Given the description of an element on the screen output the (x, y) to click on. 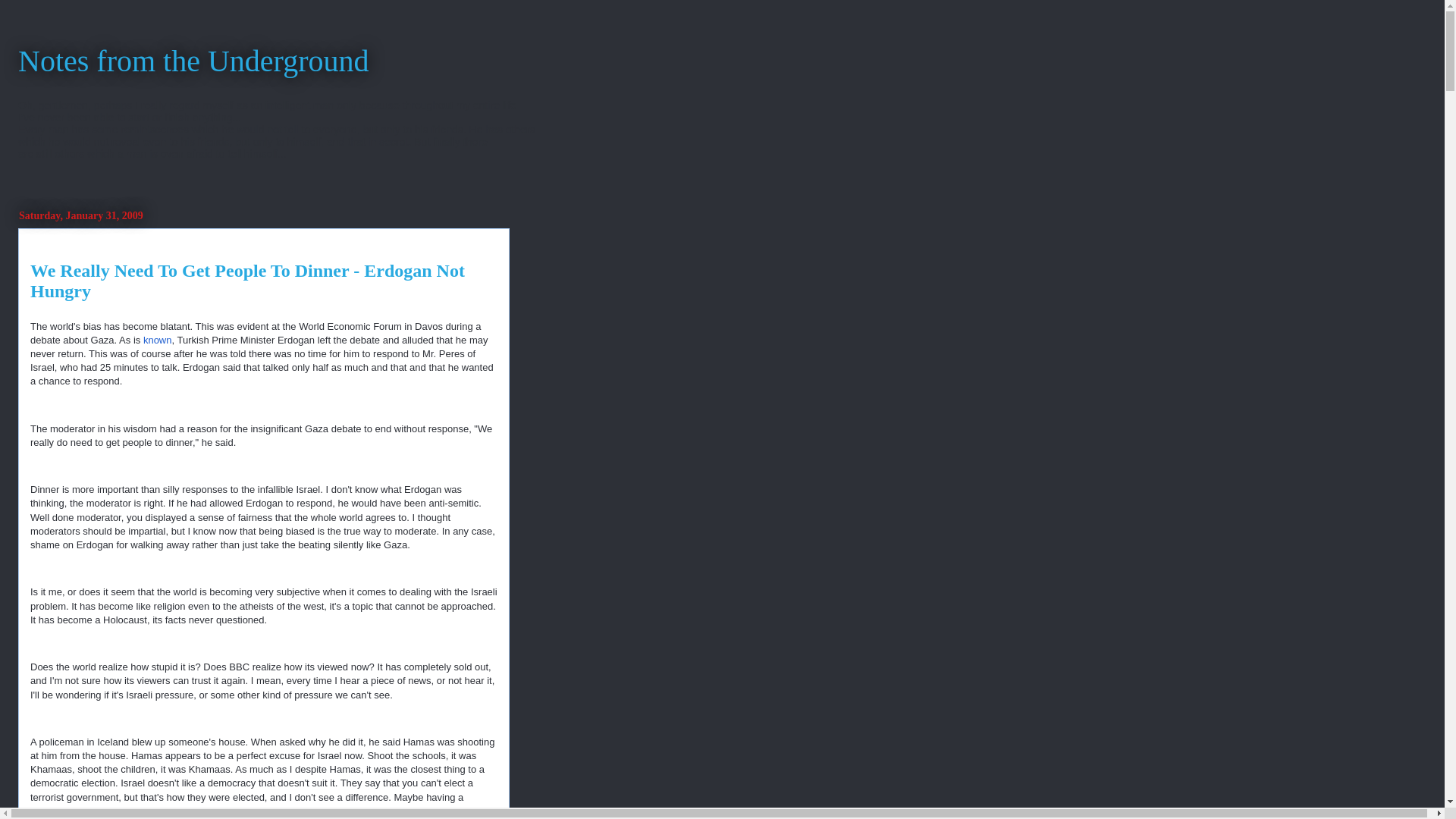
Notes from the Underground (193, 60)
known (156, 339)
